Given the description of an element on the screen output the (x, y) to click on. 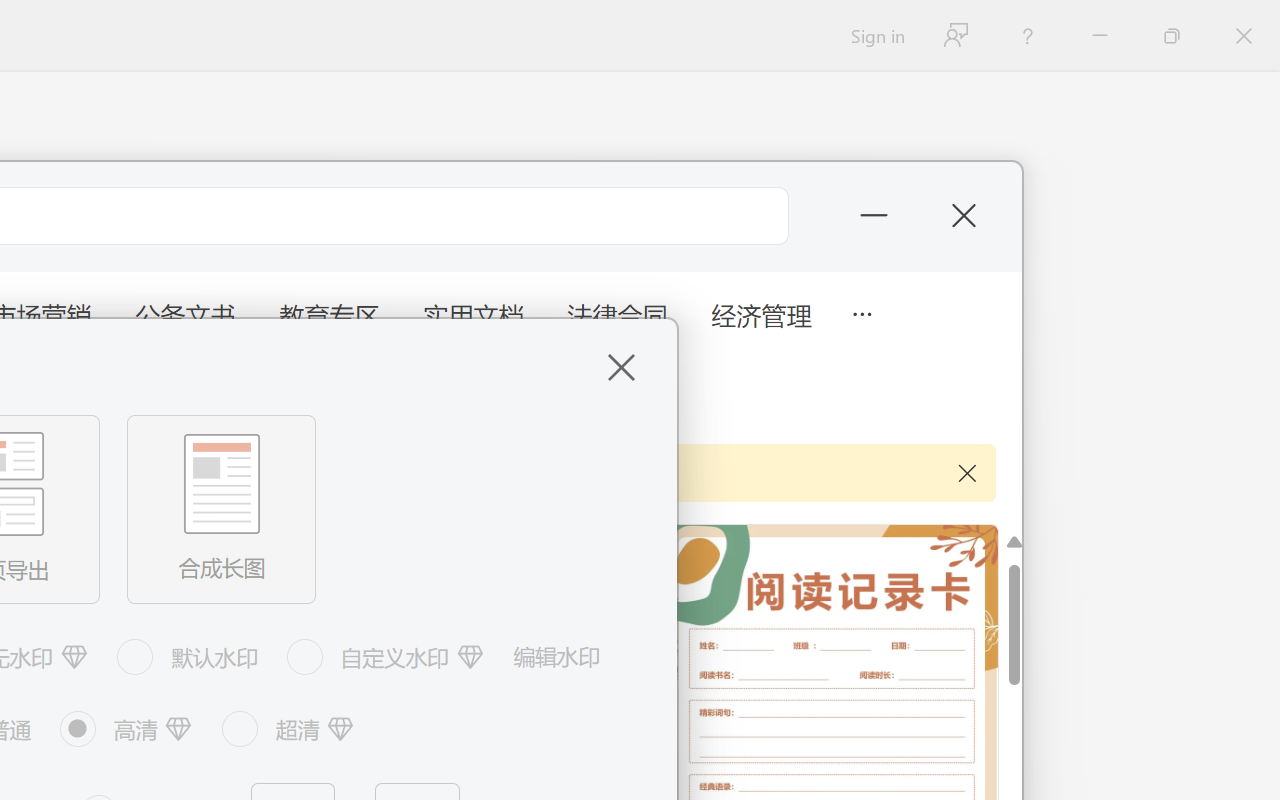
5 more tabs (861, 312)
Sign in (875, 35)
